Given the description of an element on the screen output the (x, y) to click on. 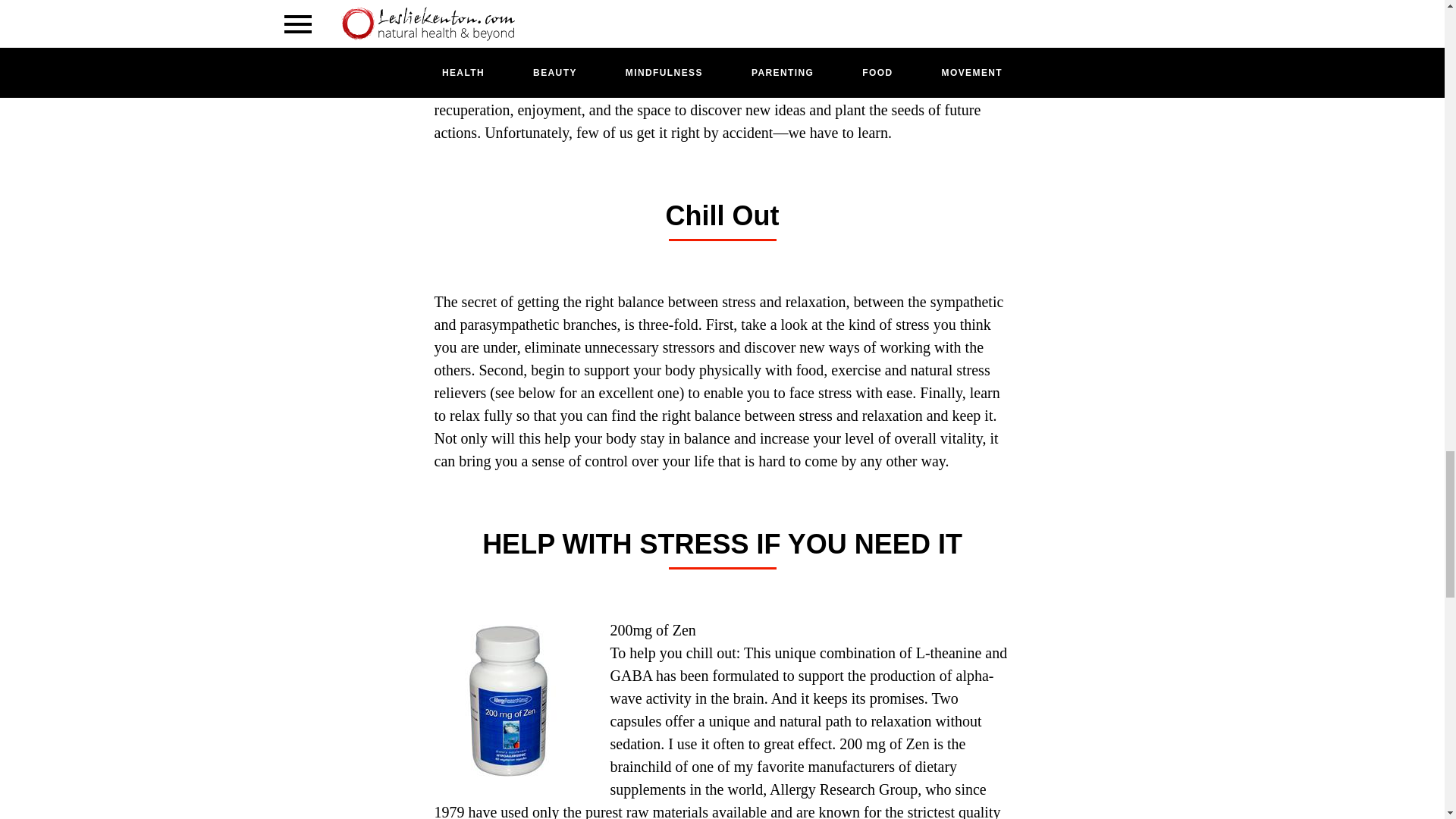
200 mg of Zen (884, 743)
